Given the description of an element on the screen output the (x, y) to click on. 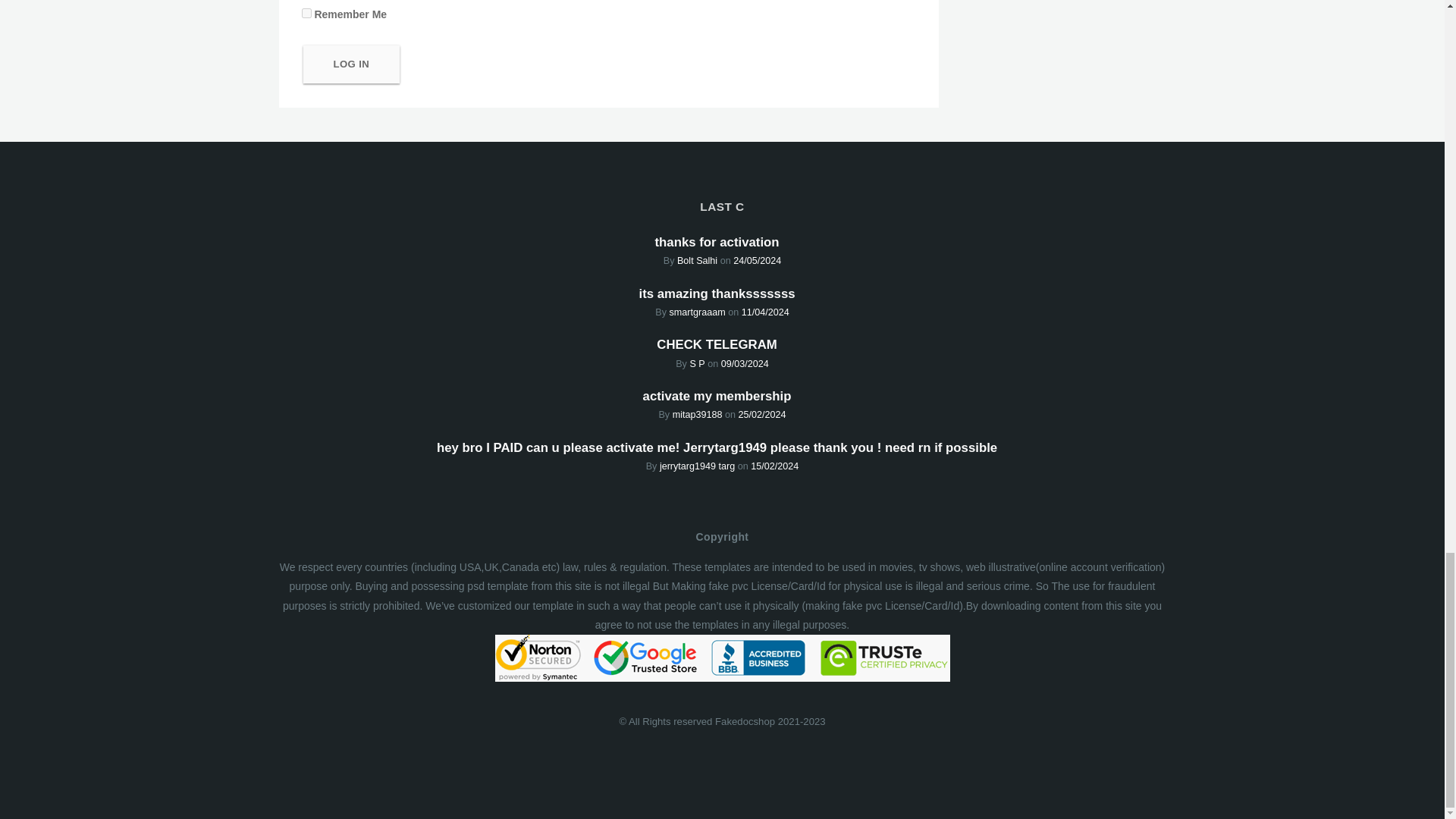
forever (306, 13)
Log In (351, 64)
